Given the description of an element on the screen output the (x, y) to click on. 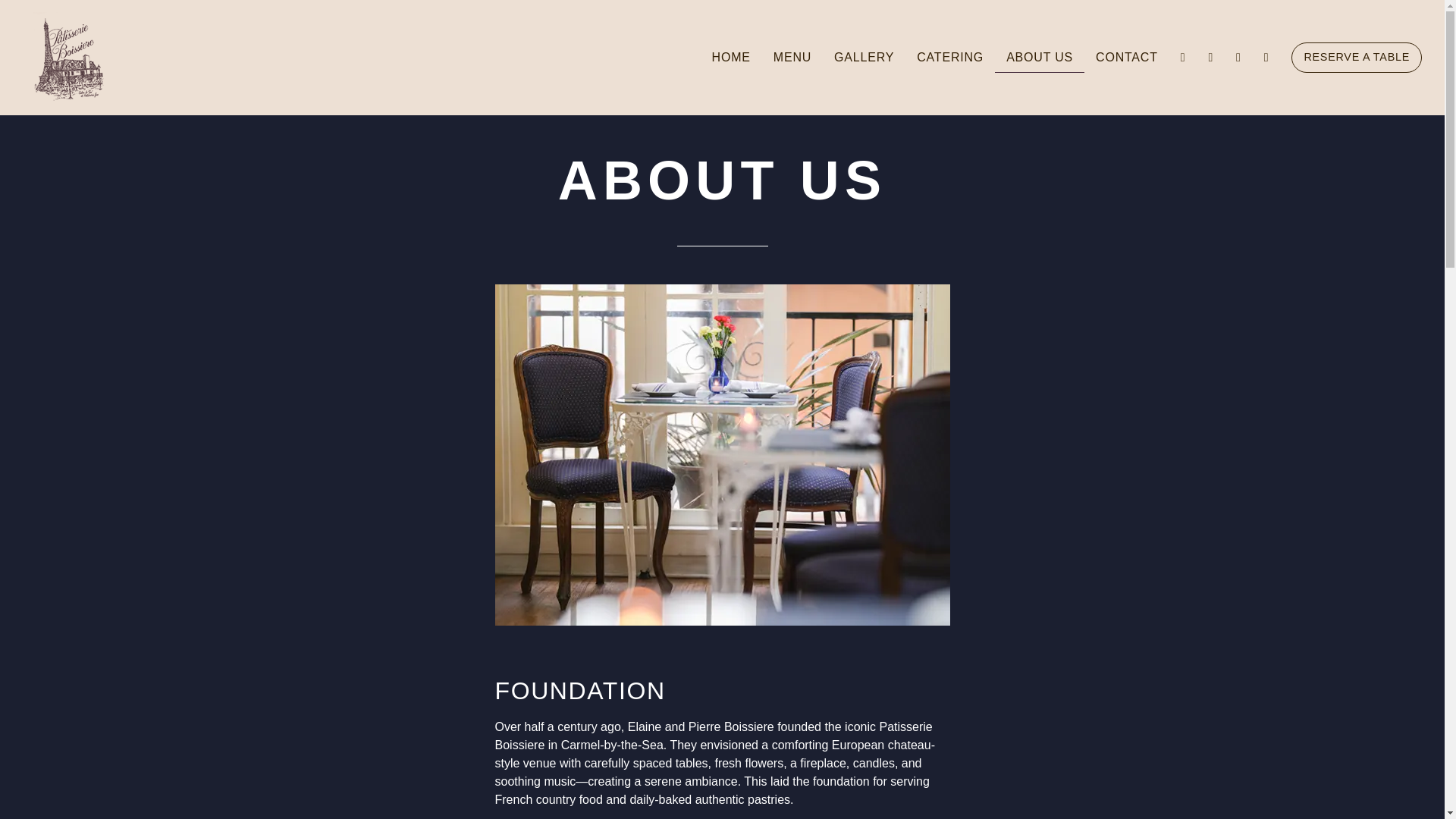
CATERING (949, 57)
HOME (730, 57)
RESERVE A TABLE (1356, 57)
MENU (791, 57)
GALLERY (863, 57)
ABOUT US (1039, 57)
CONTACT (1126, 57)
